Given the description of an element on the screen output the (x, y) to click on. 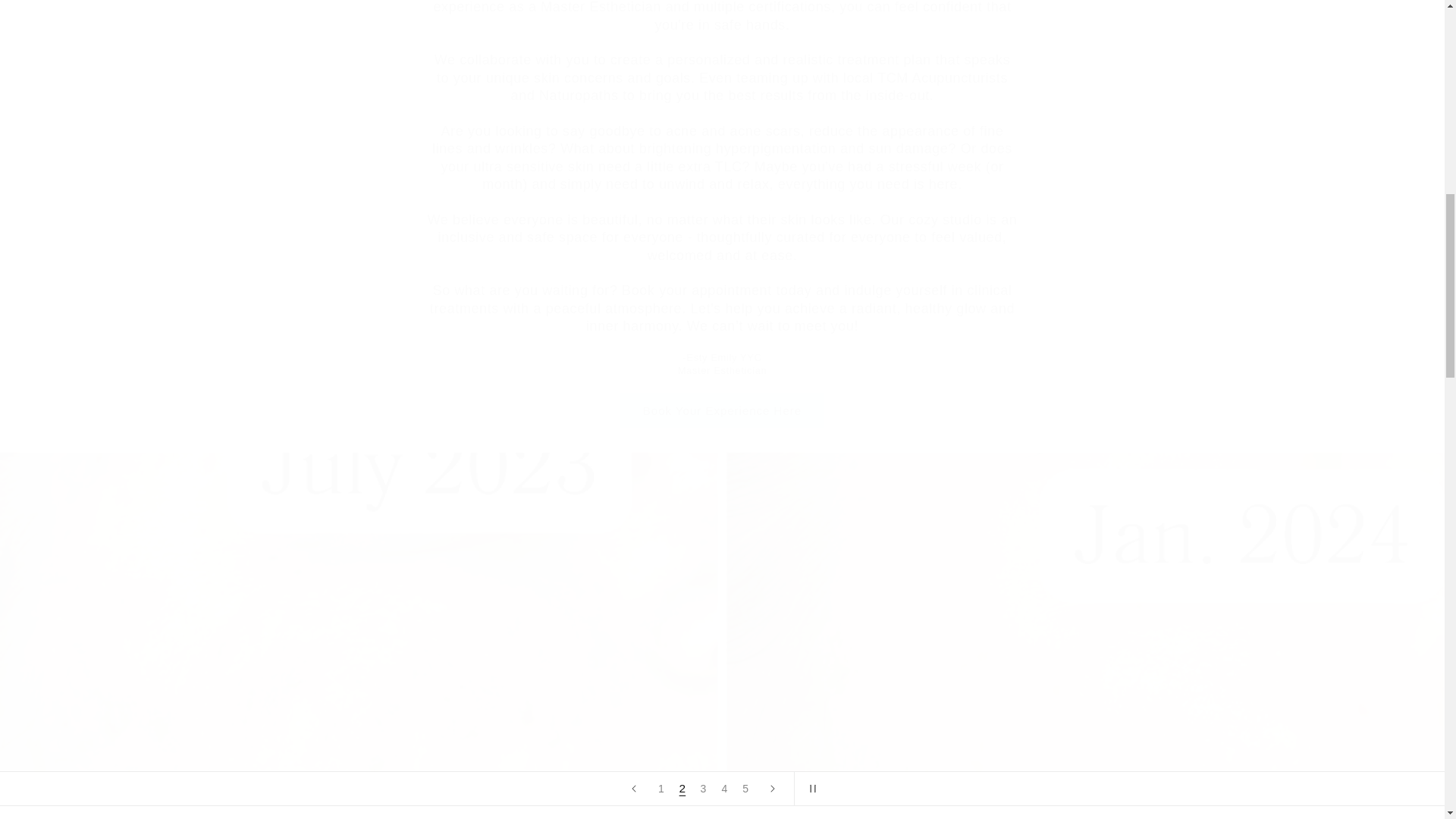
Book Your Experience Here (722, 410)
Book Your Experience Here (722, 410)
